Given the description of an element on the screen output the (x, y) to click on. 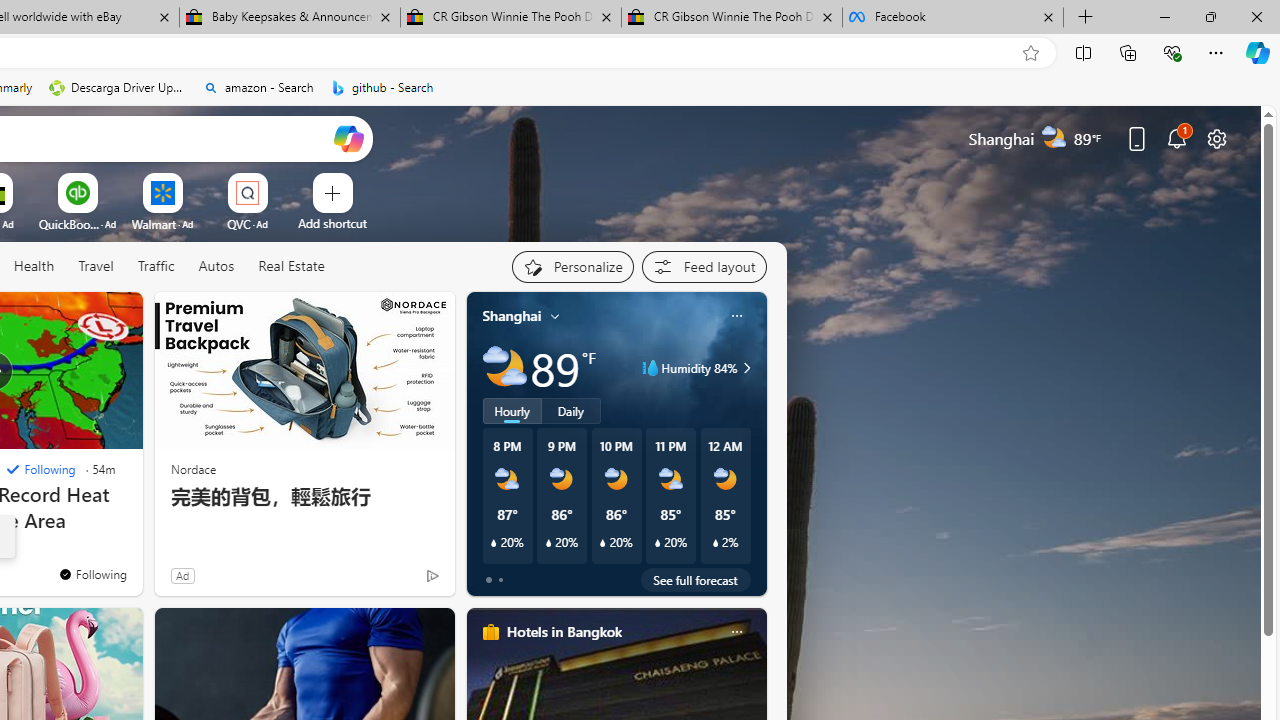
Shanghai (511, 315)
Hide this story (82, 315)
Descarga Driver Updater (118, 88)
Feed settings (703, 266)
Personalize your feed" (571, 266)
